Given the description of an element on the screen output the (x, y) to click on. 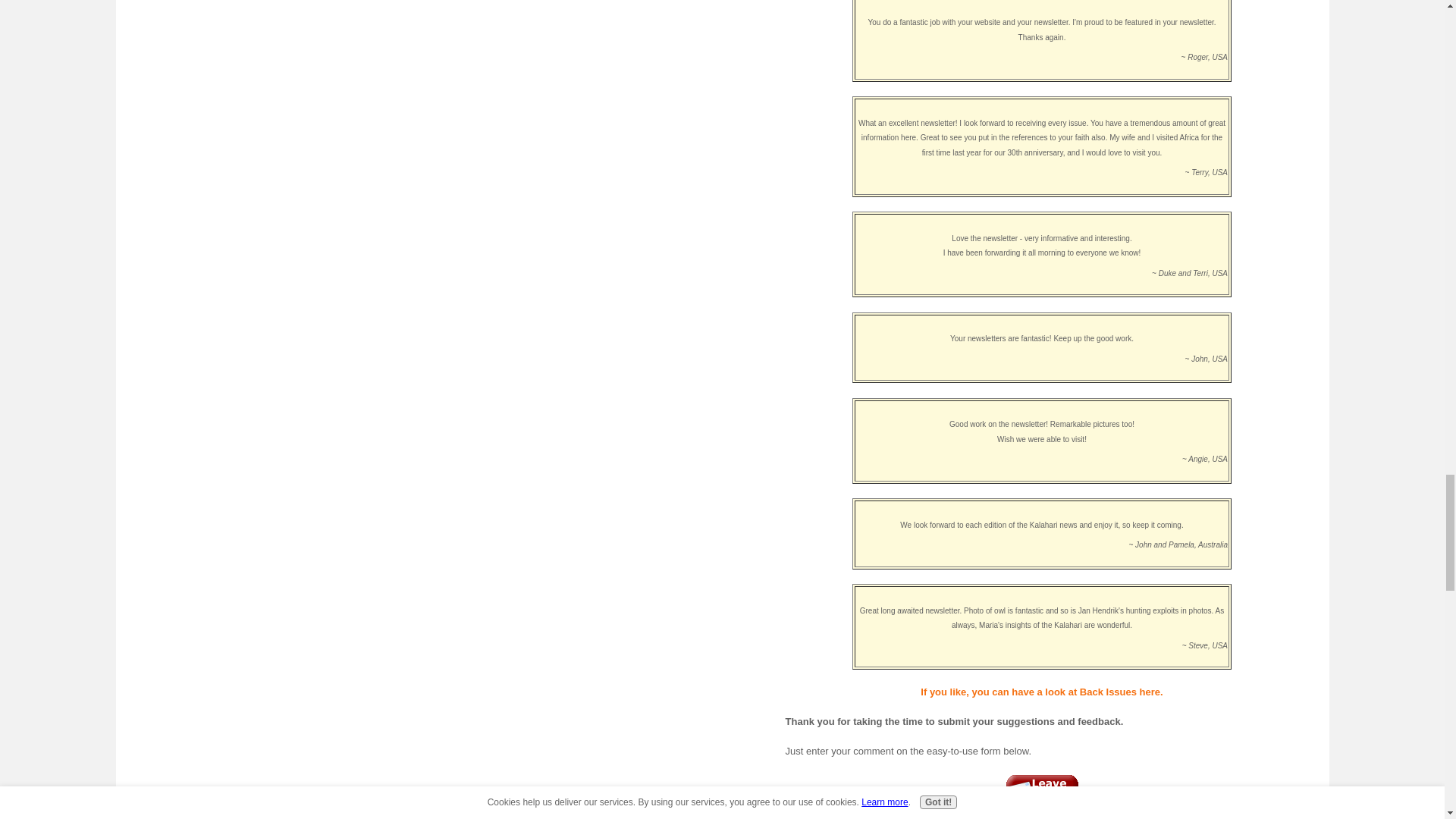
Back Issues of Kalahari Hunting News (1040, 691)
If you like, you can have a look at Back Issues here. (1040, 691)
